Given the description of an element on the screen output the (x, y) to click on. 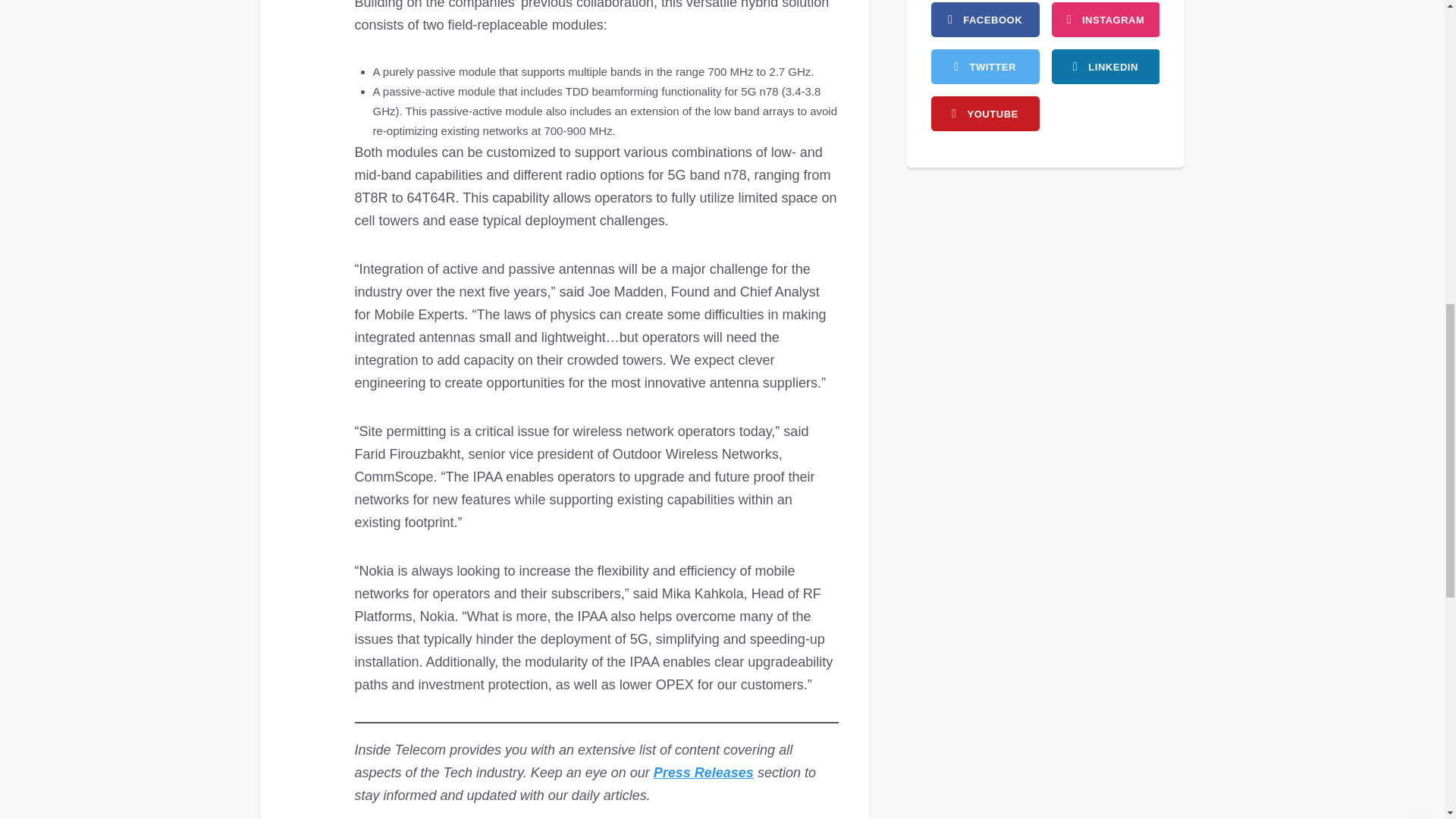
rss (1104, 66)
youtube (985, 113)
facebook (985, 19)
instagram (1104, 19)
twitter (985, 66)
